Given the description of an element on the screen output the (x, y) to click on. 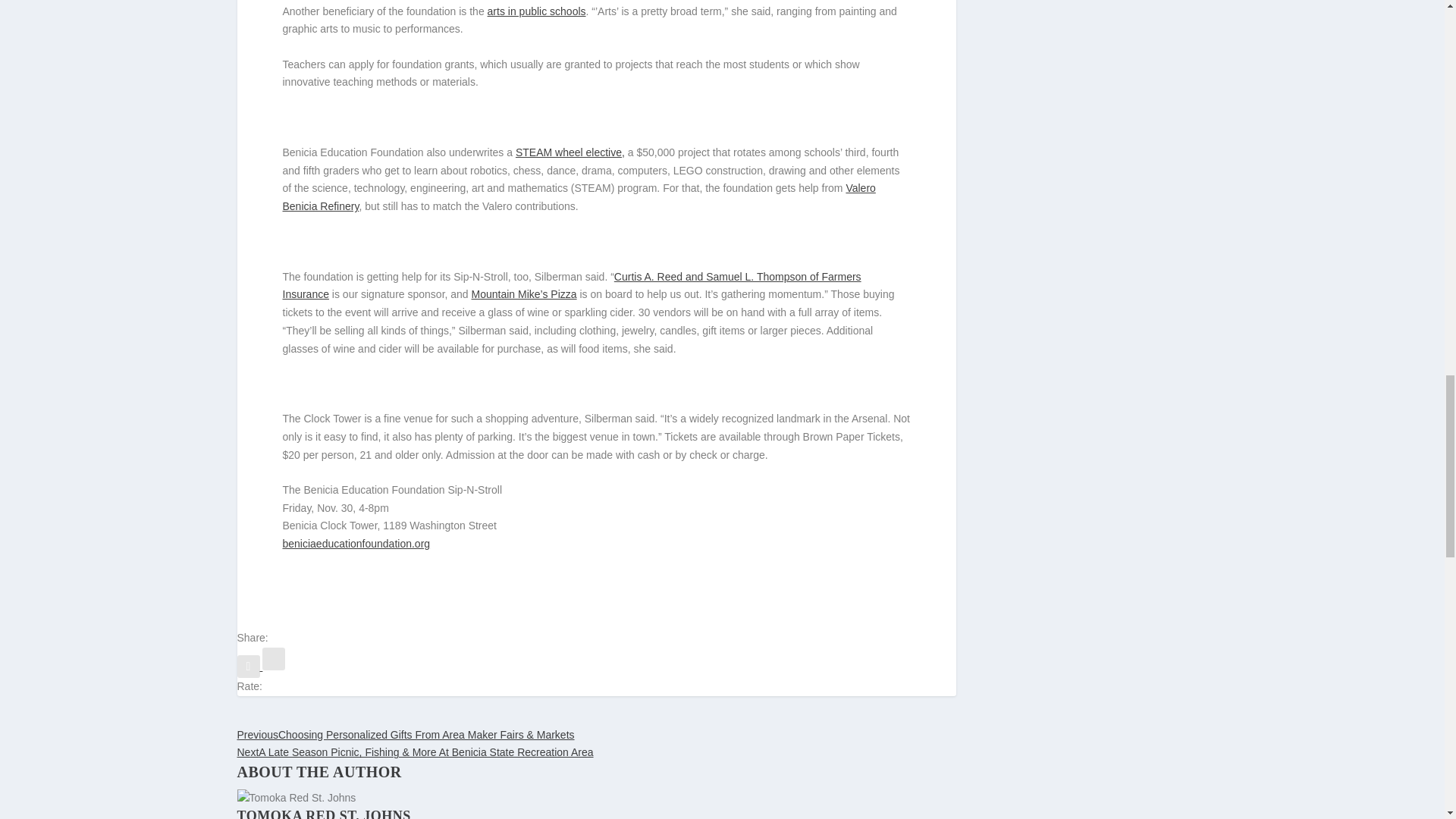
View all posts by Tomoka Red St. Johns (322, 813)
Curtis A. Reed and Samuel L. Thompson of Farmers Insurance (571, 286)
arts in public schools (536, 10)
STEAM wheel elective, (569, 152)
Valero Benicia Refinery (578, 196)
beniciaeducationfoundation.org (355, 543)
